Given the description of an element on the screen output the (x, y) to click on. 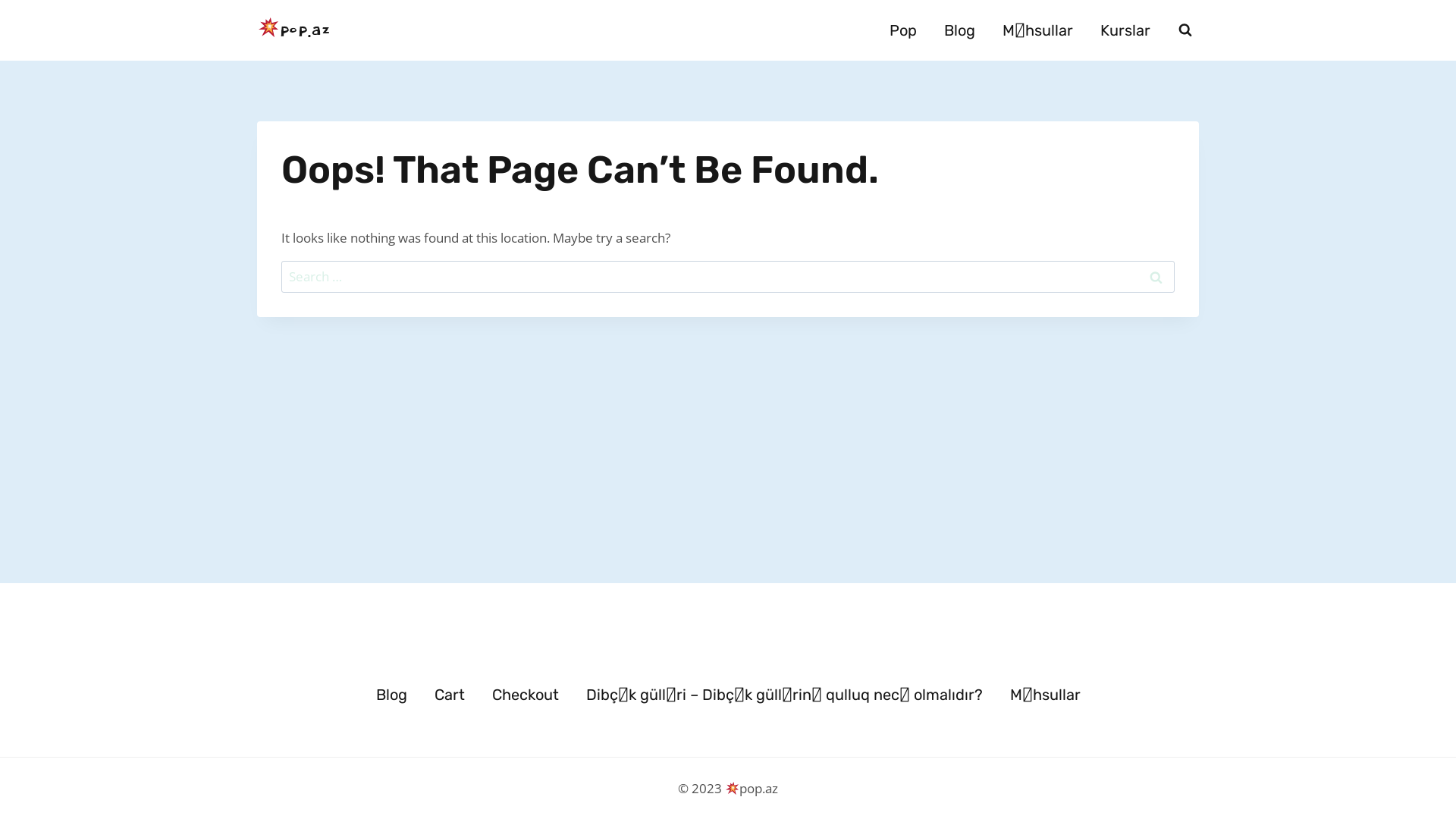
Pop Element type: text (902, 30)
Blog Element type: text (391, 694)
Search Element type: text (1155, 276)
Cart Element type: text (448, 694)
Checkout Element type: text (524, 694)
Kurslar Element type: text (1125, 30)
Blog Element type: text (959, 30)
pop.az Element type: text (293, 30)
